Given the description of an element on the screen output the (x, y) to click on. 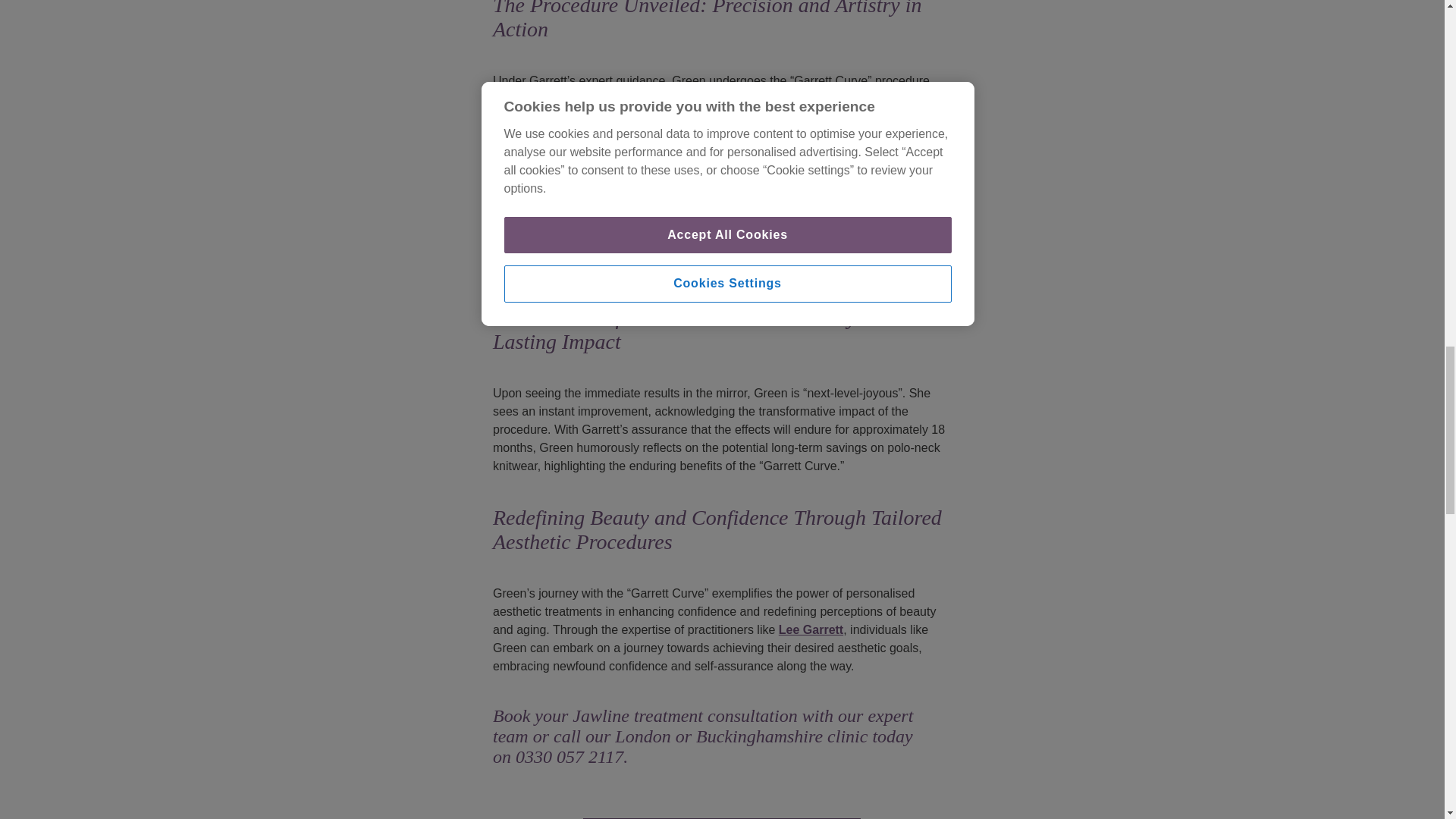
Radiesse (748, 116)
0330 057 2117 (569, 756)
consultation (752, 715)
London (641, 736)
Lee Garrett (810, 629)
Buckinghamshire  (761, 736)
filler into the jawline (748, 98)
